Given the description of an element on the screen output the (x, y) to click on. 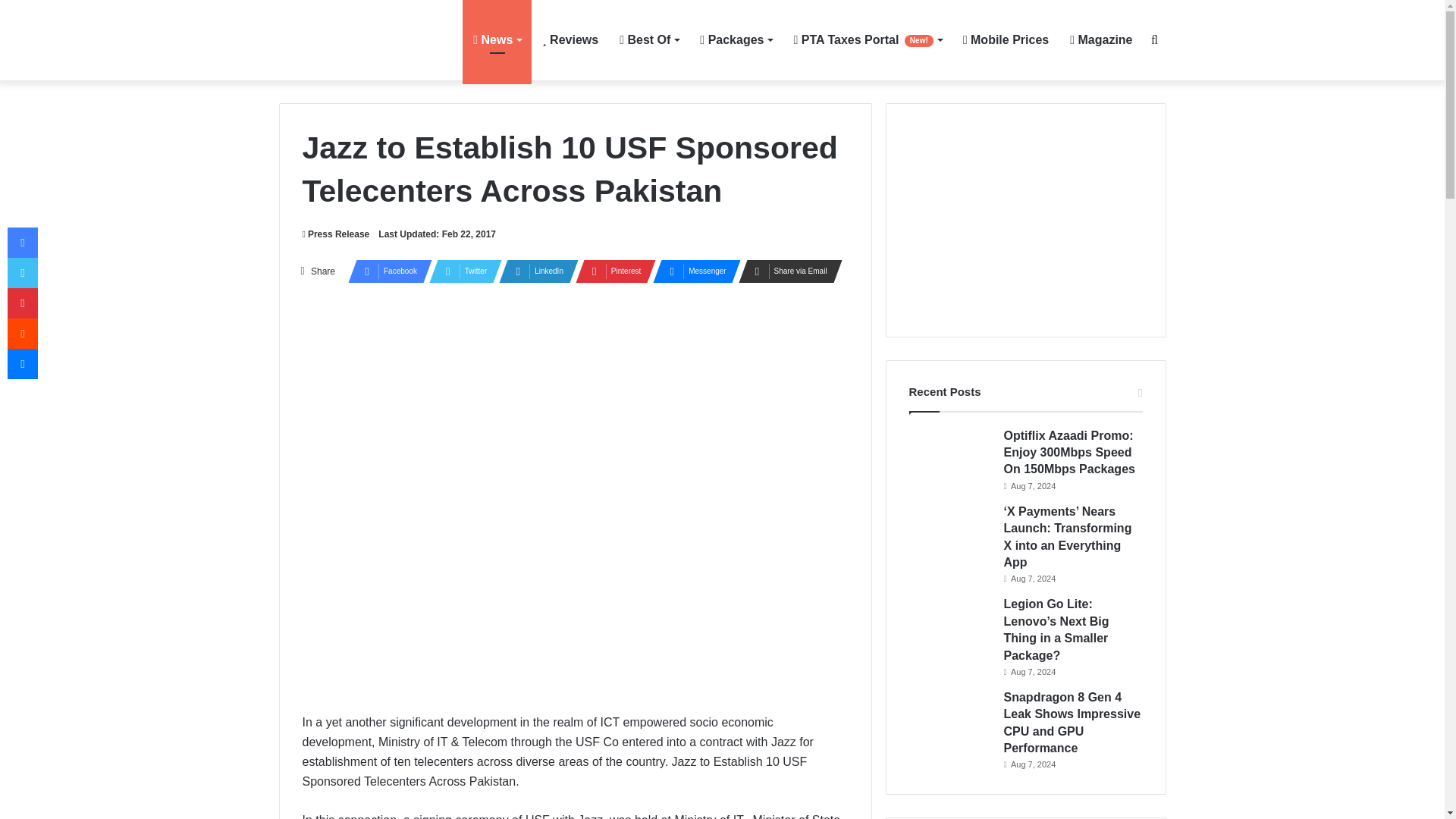
News (497, 40)
Press Release (335, 234)
PTA Taxes Portal New! (867, 40)
Share via Email (785, 271)
Mobile Prices (1005, 40)
Facebook (385, 271)
Packages (735, 40)
Best Of (648, 40)
Reviews (569, 40)
Pinterest (610, 271)
Twitter (461, 271)
LinkedIn (534, 271)
Magazine (1100, 40)
Messenger (692, 271)
